Given the description of an element on the screen output the (x, y) to click on. 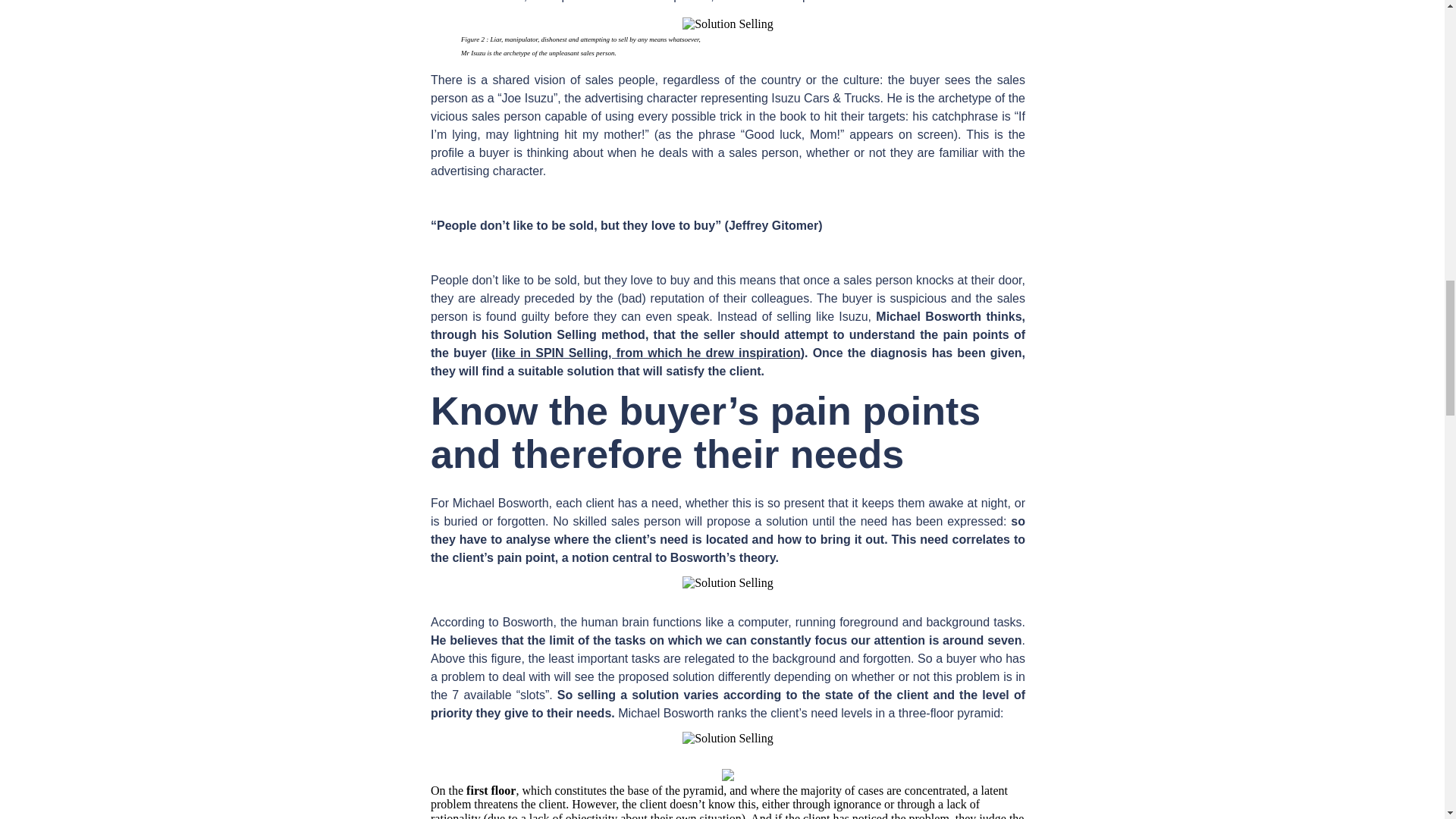
like in SPIN Selling, from which he drew inspiration (647, 352)
